Given the description of an element on the screen output the (x, y) to click on. 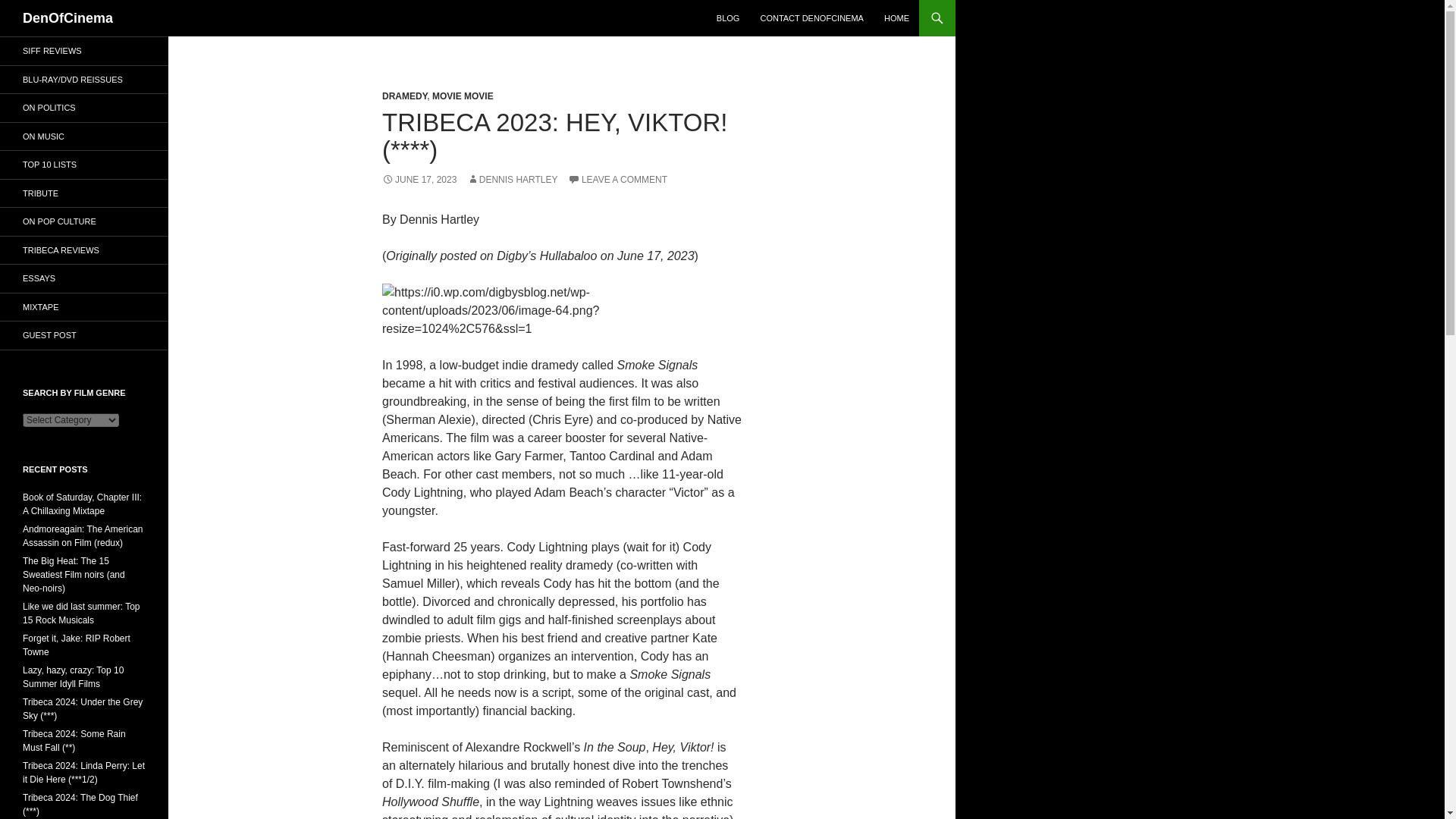
ESSAYS (84, 278)
BLOG (728, 18)
HOME (896, 18)
ON MUSIC (84, 136)
CONTACT DENOFCINEMA (811, 18)
ON POP CULTURE (84, 221)
JUNE 17, 2023 (419, 179)
Like we did last summer: Top 15 Rock Musicals (81, 613)
SIFF REVIEWS (84, 50)
LEAVE A COMMENT (616, 179)
TOP 10 LISTS (84, 164)
MIXTAPE (84, 306)
TRIBUTE (84, 193)
DRAMEDY (403, 95)
Book of Saturday, Chapter III: A Chillaxing Mixtape (82, 504)
